Given the description of an element on the screen output the (x, y) to click on. 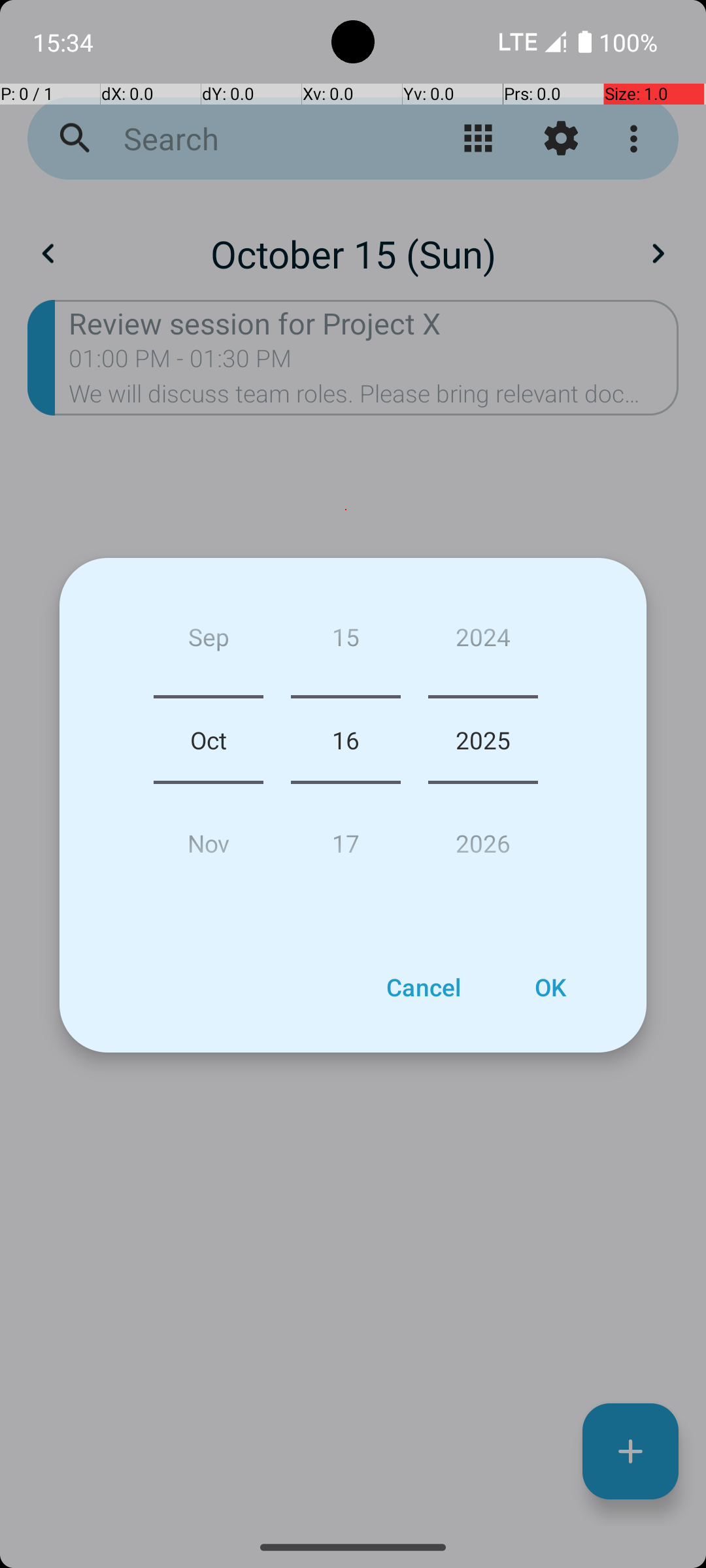
2025 Element type: android.widget.EditText (482, 739)
2026 Element type: android.widget.Button (482, 837)
